Given the description of an element on the screen output the (x, y) to click on. 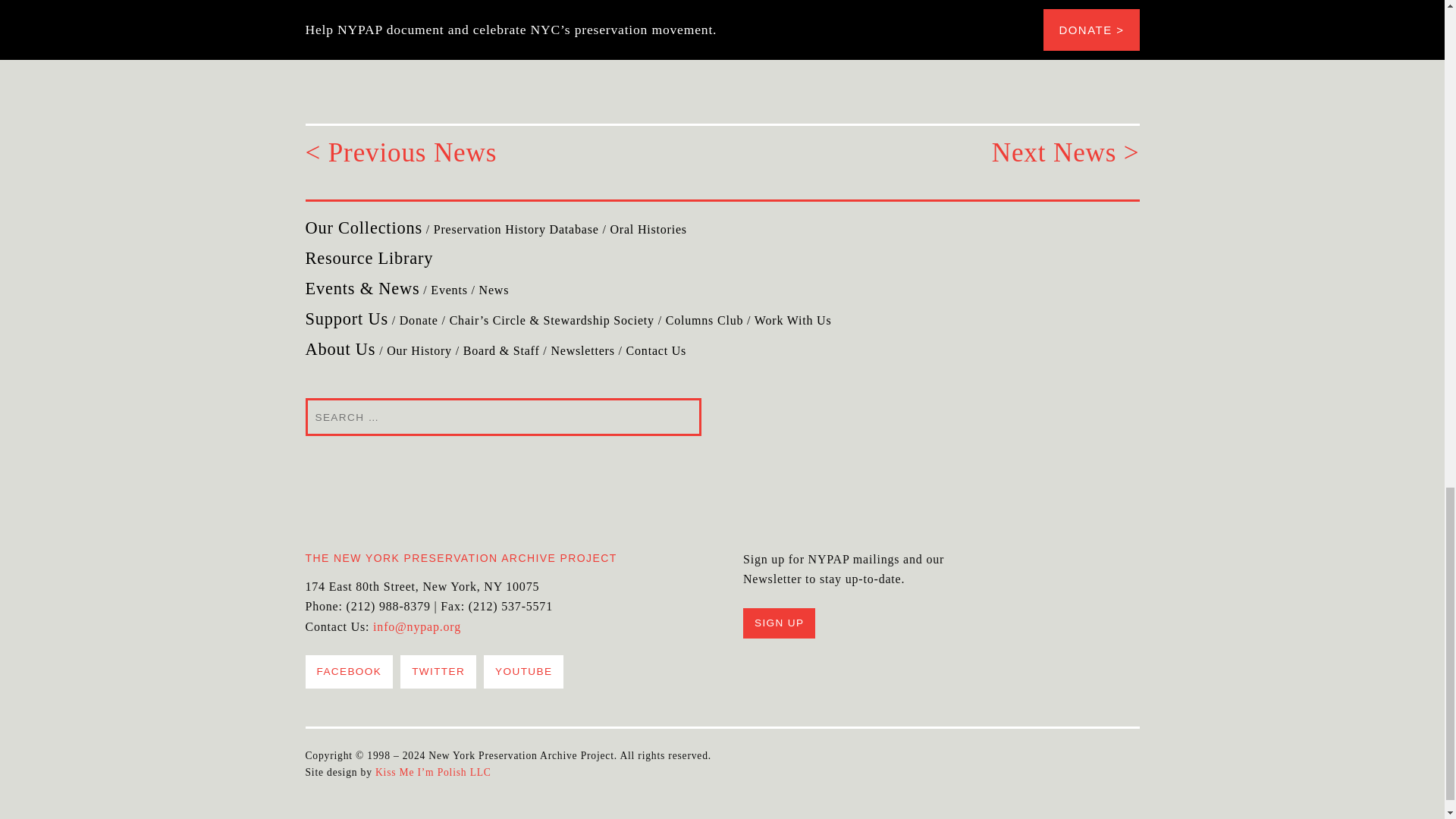
About Us (339, 348)
Donate (418, 319)
Resource Library (368, 257)
Preservation History Database (515, 228)
Work With Us (792, 319)
Contact Us (656, 350)
Oral Histories (647, 228)
Events (448, 289)
Columns Club (704, 319)
Newsletters (582, 350)
Support Us (345, 318)
Our Collections (363, 227)
